Given the description of an element on the screen output the (x, y) to click on. 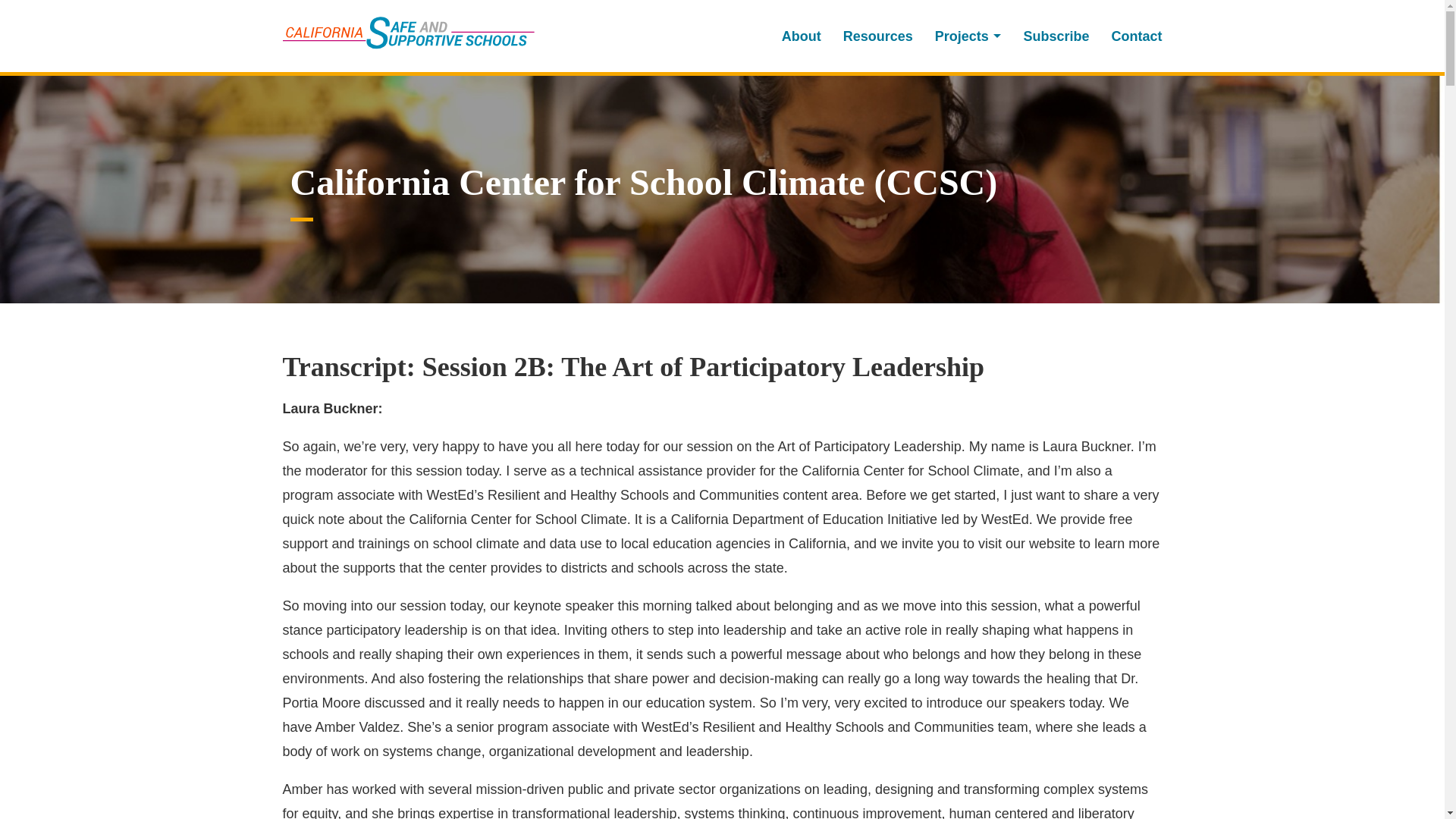
Contact (1131, 36)
About (801, 36)
Projects (968, 36)
Resources (877, 36)
California Safe and Supportive Schools (408, 32)
Subscribe (1055, 36)
